Given the description of an element on the screen output the (x, y) to click on. 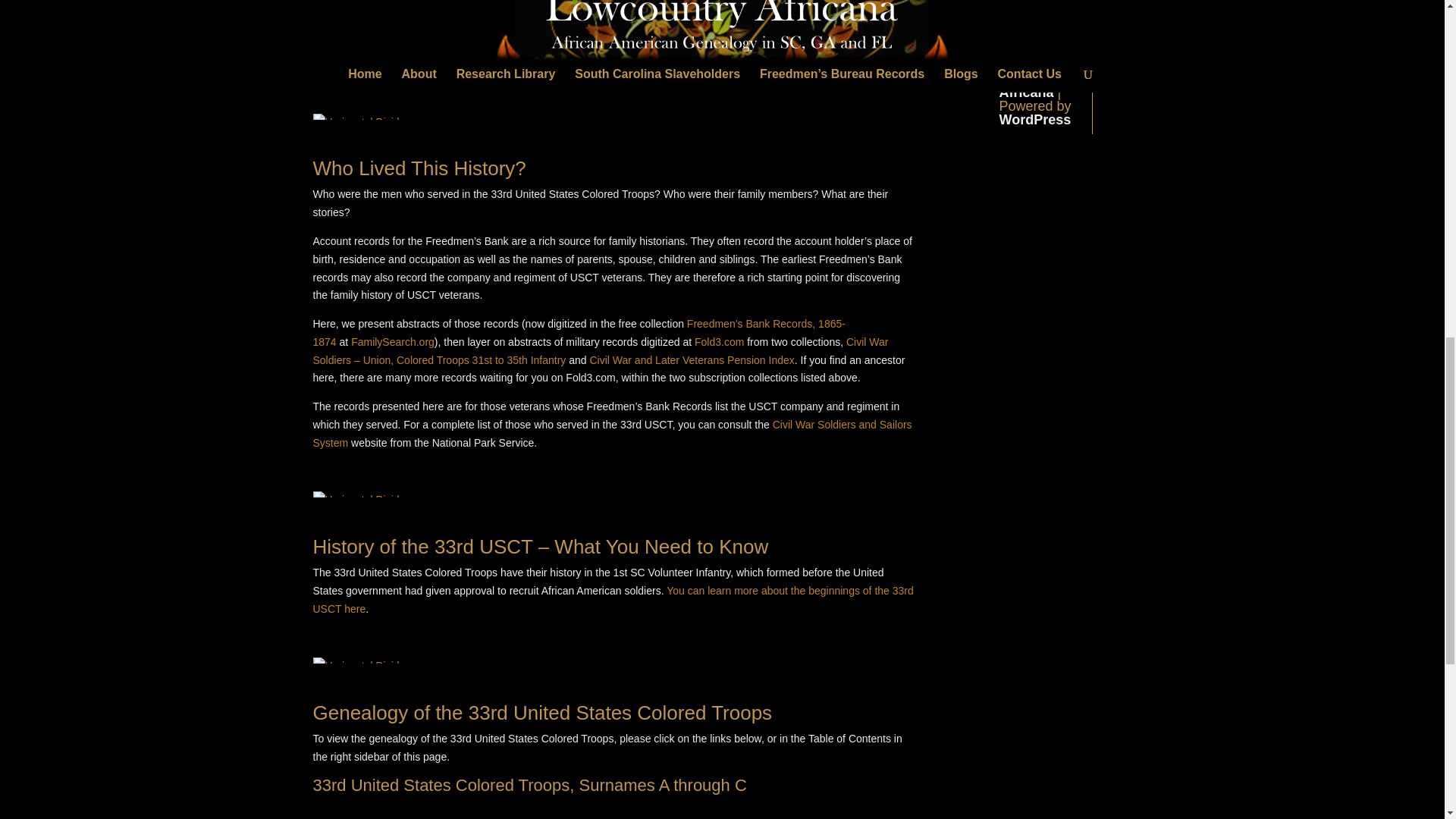
Civil War Soldiers and Sailors System (612, 433)
FamilySearch.org (391, 341)
Civil War and Later Veterans Pension Index (691, 359)
33rd United States Colored Troops, Surnames A through C (529, 784)
Fold3.com (719, 341)
Lowcountry Africana (1036, 85)
